Given the description of an element on the screen output the (x, y) to click on. 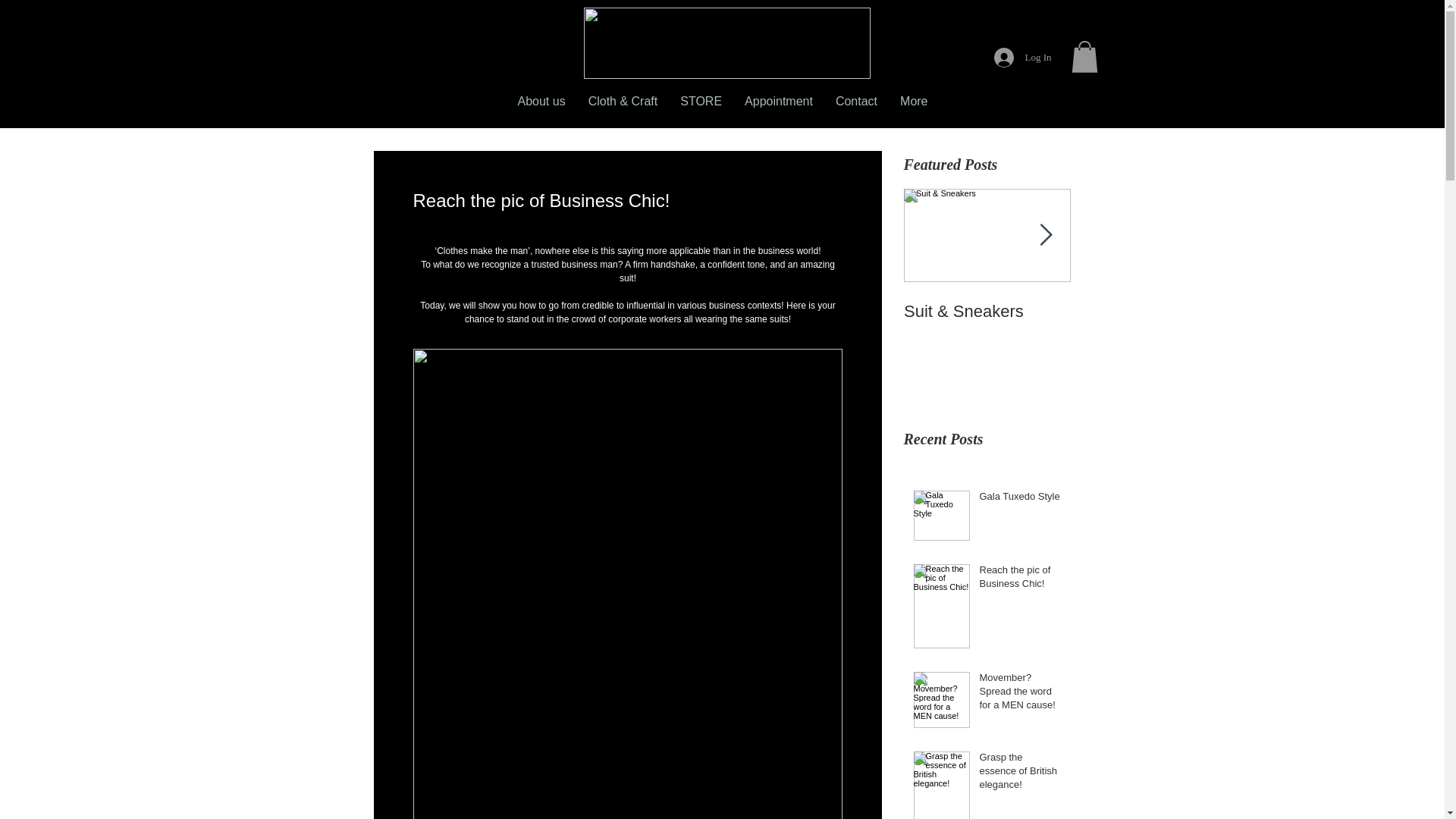
Reach the pic of Business Chic! (1020, 580)
Movember? Spread the word for a MEN cause! (1020, 694)
About us (540, 107)
Gala Tuxedo Style (1020, 499)
Grasp the essence of British elegance! (1020, 774)
Log In (1022, 57)
Our top 7 of the best suits from Cannes Festival 2016 (1153, 331)
Appointment (778, 107)
Contact (856, 107)
